Given the description of an element on the screen output the (x, y) to click on. 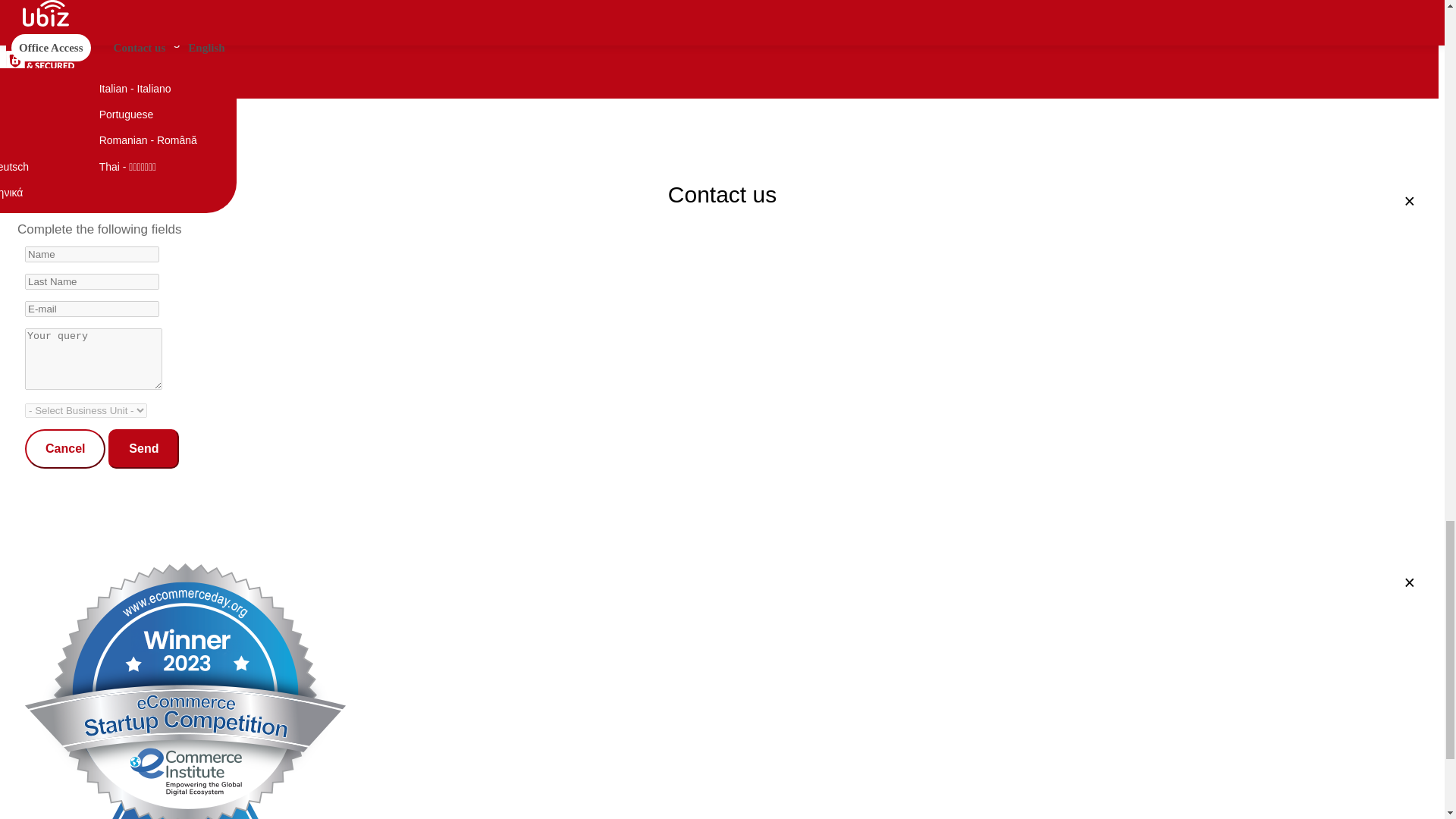
Winner 2023 - eCommerce Startup Competition (24, 13)
